Given the description of an element on the screen output the (x, y) to click on. 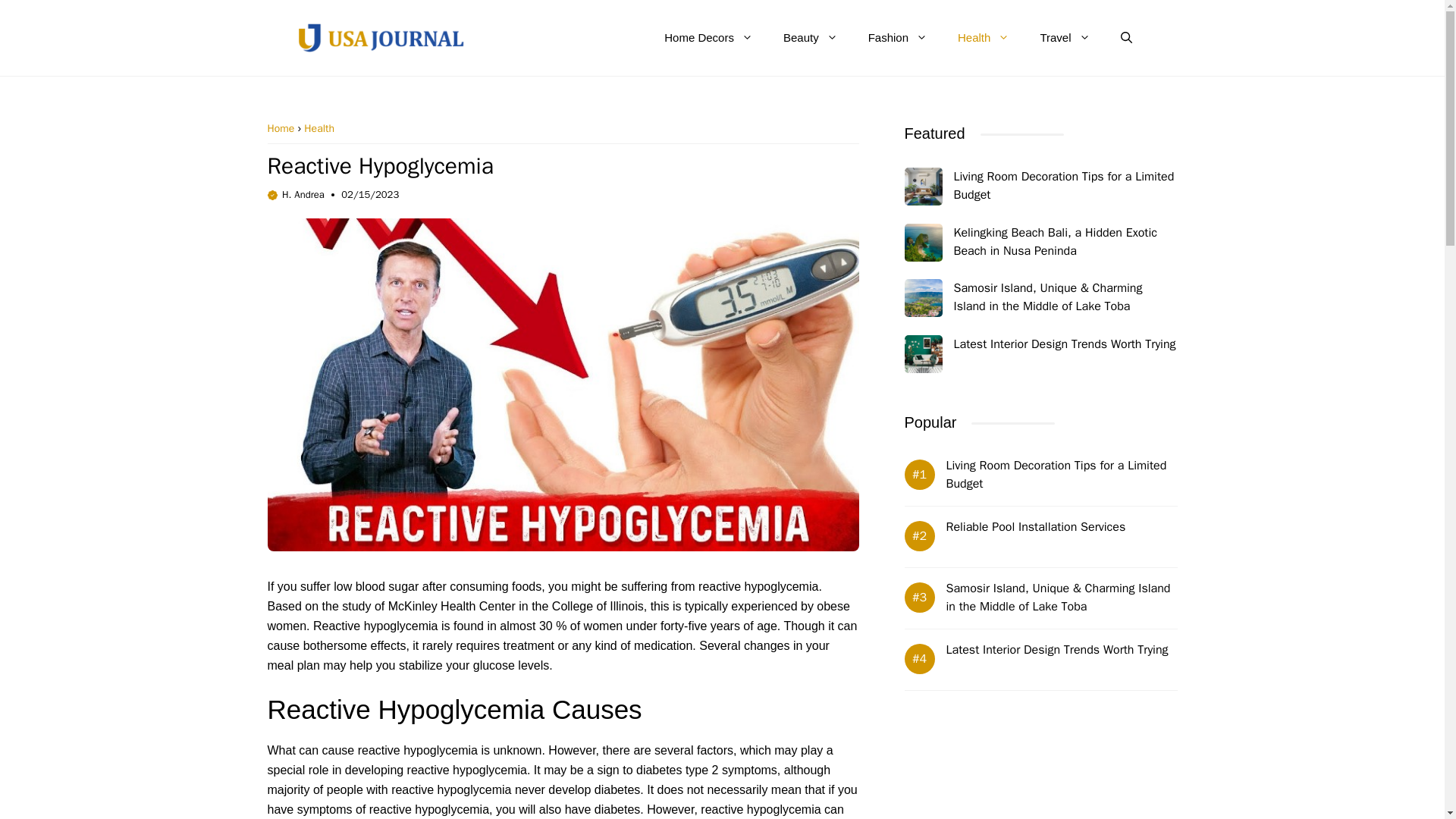
Travel (1065, 37)
Fashion (897, 37)
Home Decors (708, 37)
Health (319, 128)
Health (983, 37)
Home (280, 128)
Beauty (810, 37)
H. Andrea (303, 194)
